Given the description of an element on the screen output the (x, y) to click on. 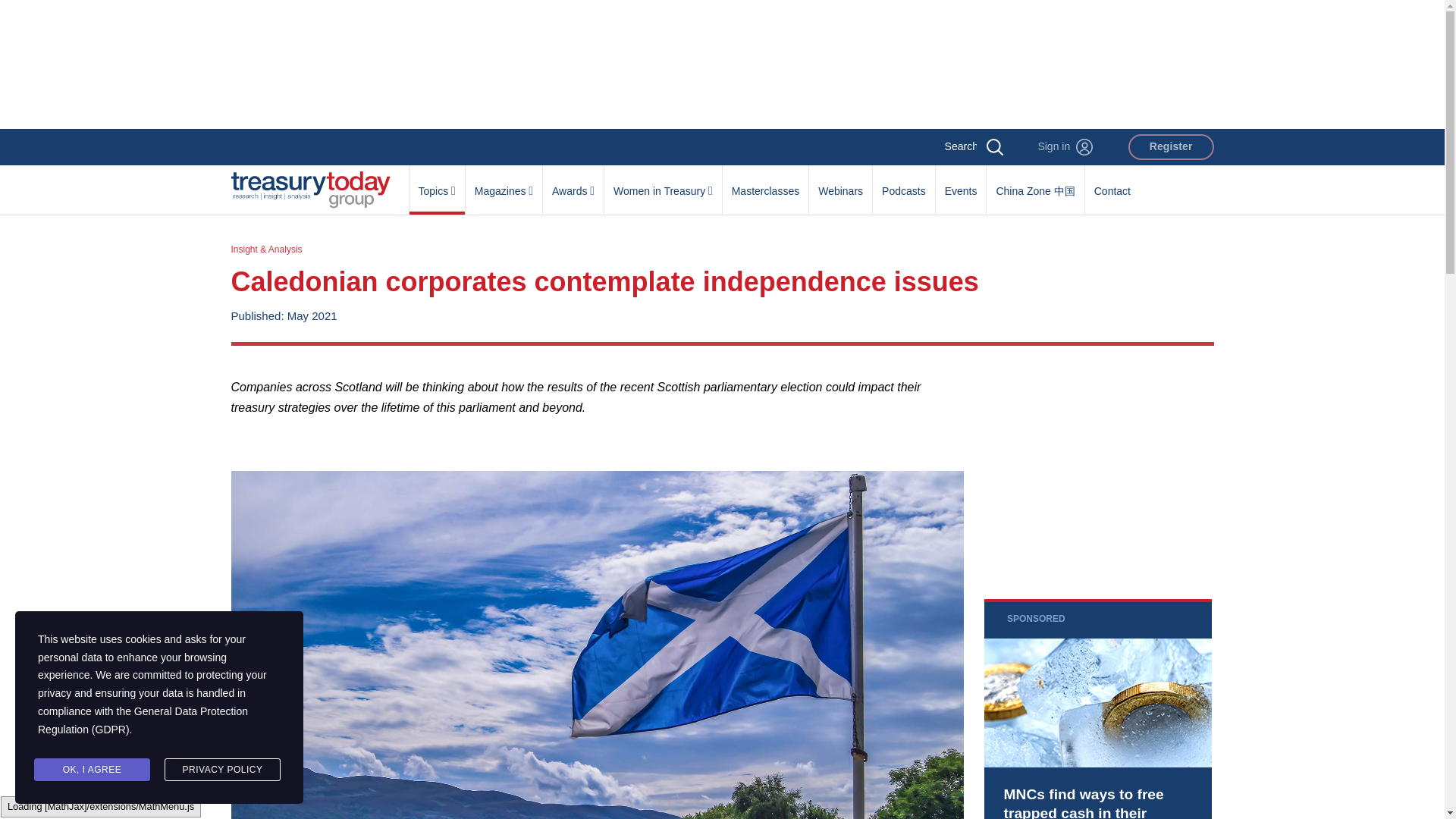
3rd party ad content (721, 63)
Webinars (840, 182)
Women in Treasury  (663, 182)
Topics  (436, 182)
3rd party ad content (1097, 471)
Sign in (1064, 146)
Register (1171, 146)
Masterclasses (765, 182)
Awards  (573, 182)
Magazines  (503, 182)
